Given the description of an element on the screen output the (x, y) to click on. 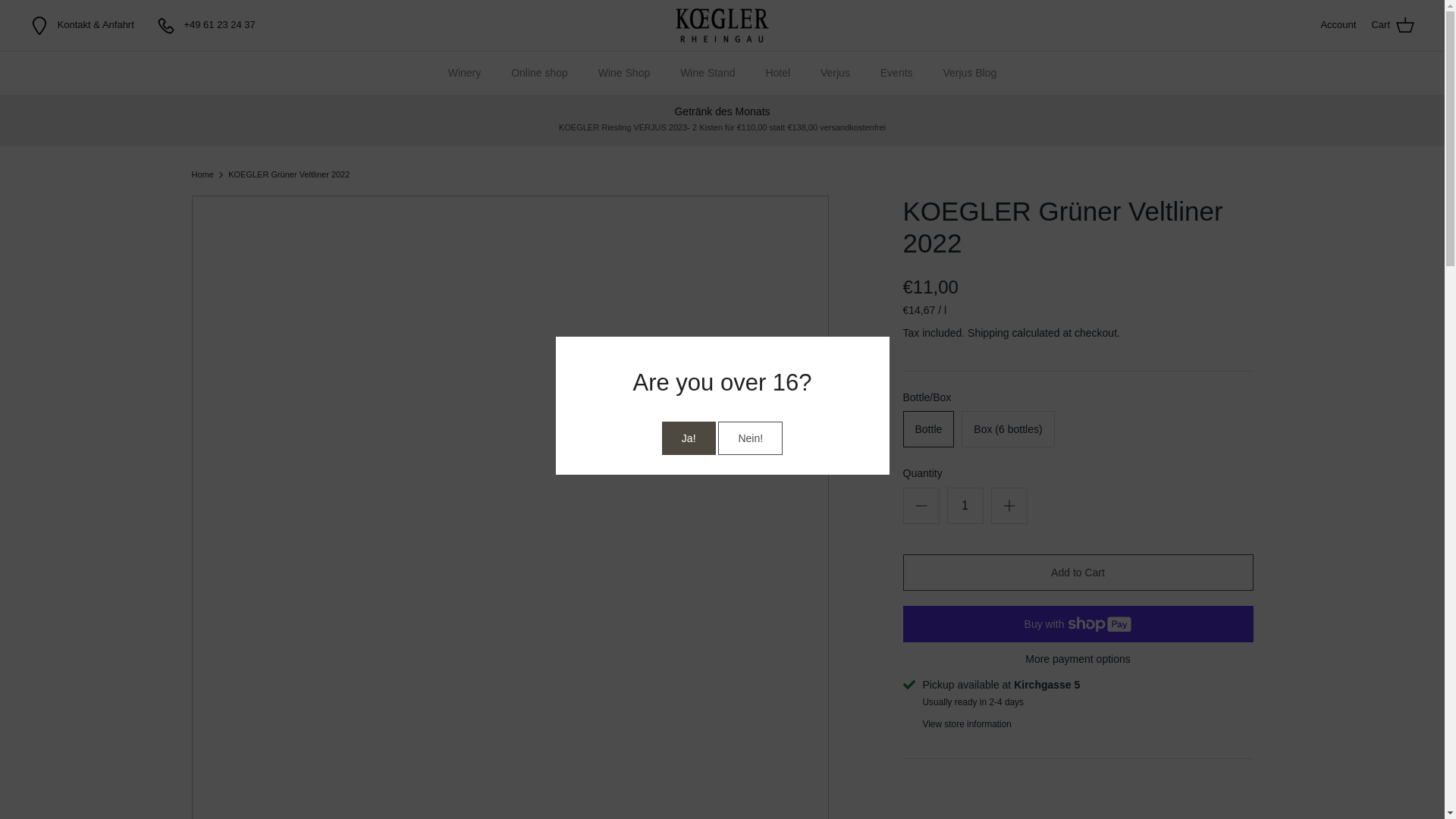
Bottle (927, 429)
Cart (1392, 25)
Wine Shop (624, 73)
Online shop (538, 73)
Winery (464, 73)
Weingut Koegler (722, 25)
1 (964, 505)
Account (1337, 25)
Home (201, 174)
Events (896, 73)
Shipping (988, 332)
Verjus Blog (969, 73)
Wine Stand (707, 73)
Hotel (777, 73)
Plus (1007, 505)
